Given the description of an element on the screen output the (x, y) to click on. 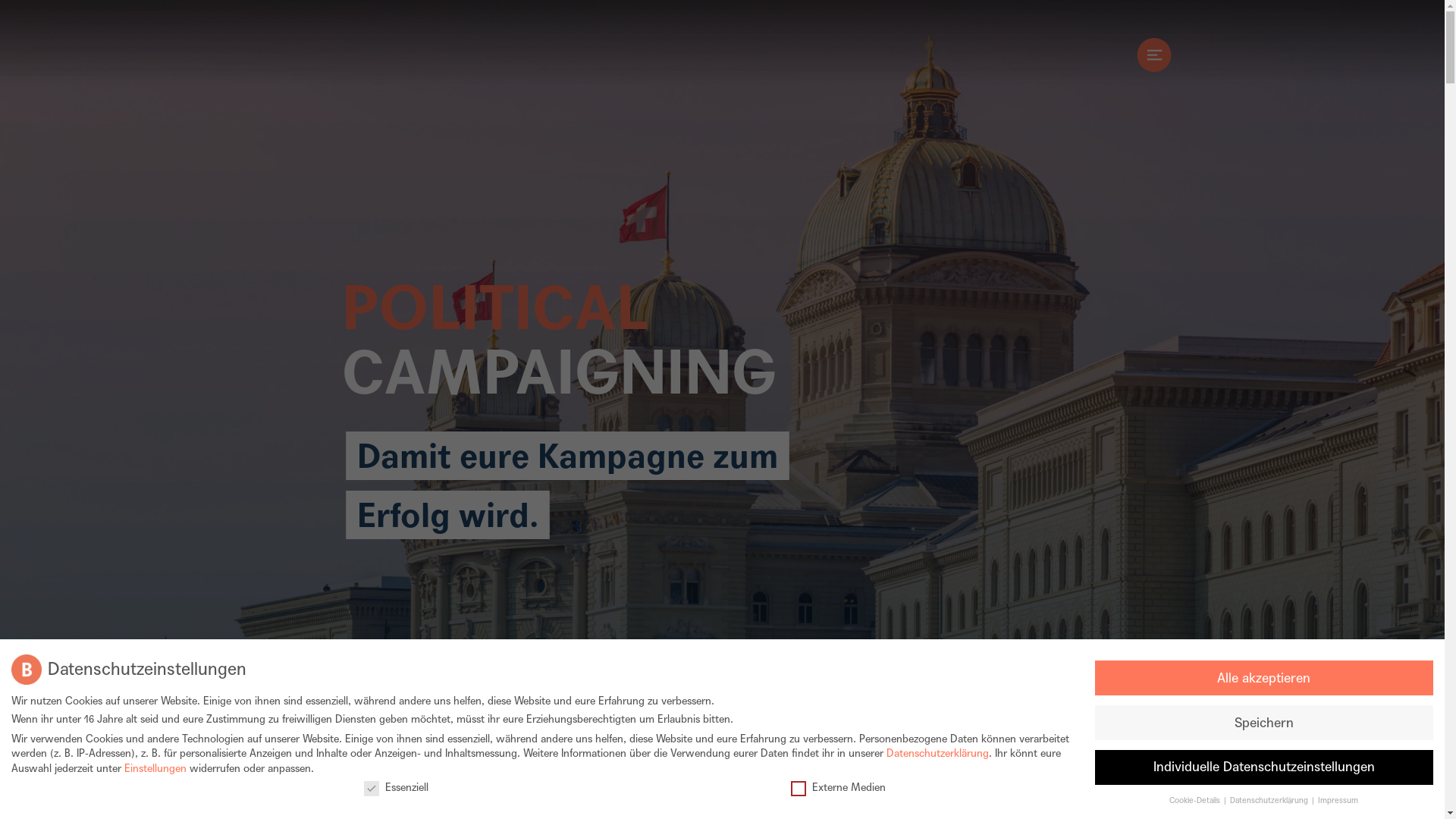
Cookie-Details Element type: text (1194, 800)
Einstellungen Element type: text (155, 768)
Individuelle Datenschutzeinstellungen Element type: text (1264, 766)
Speichern Element type: text (1264, 722)
Impressum Element type: text (1337, 800)
Alle akzeptieren Element type: text (1264, 677)
